Given the description of an element on the screen output the (x, y) to click on. 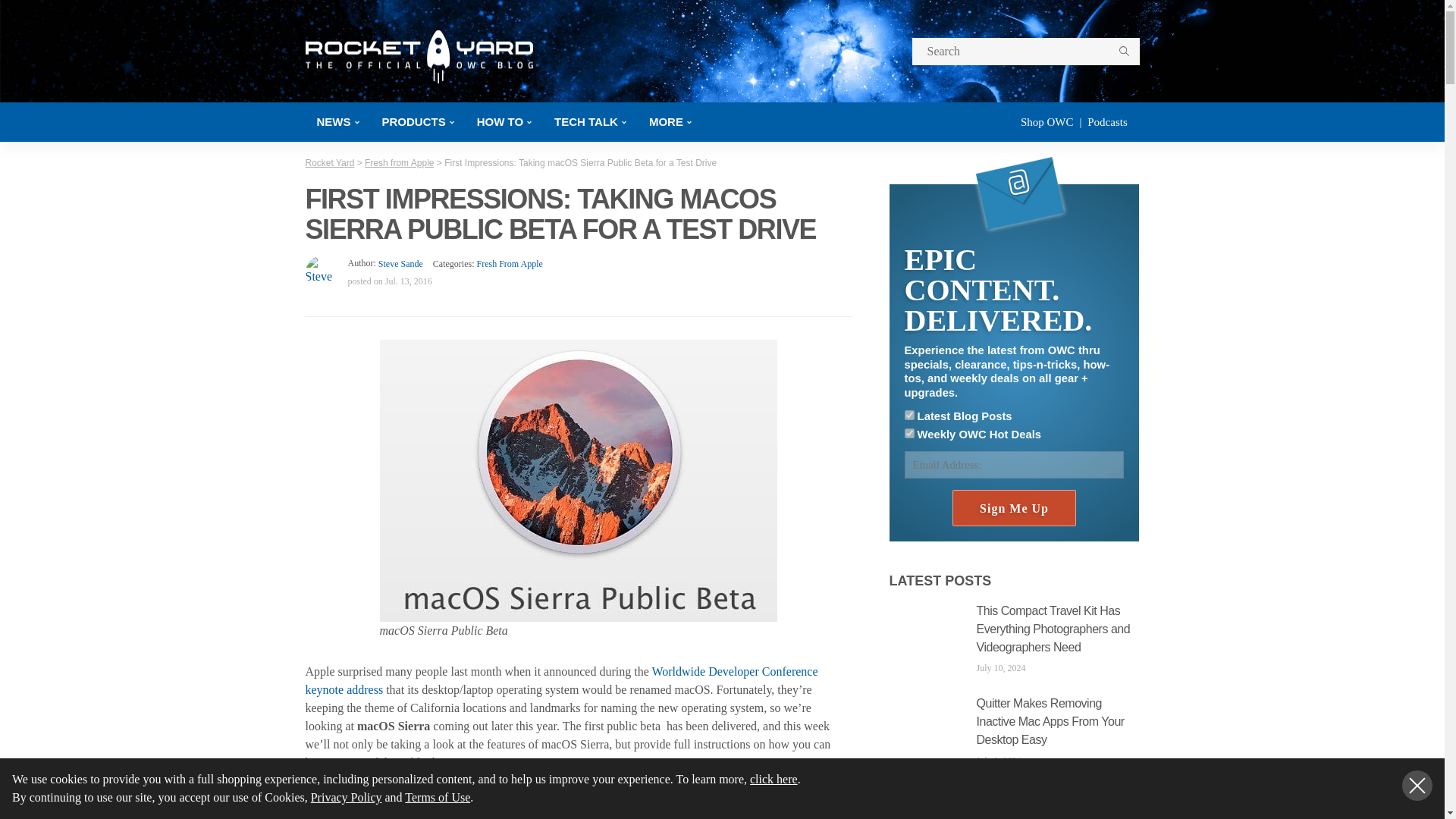
Fresh from Apple (508, 263)
0bcd03ec00000000000000000000001f995c (909, 415)
Go to Rocket Yard. (328, 163)
NEWS (336, 121)
search for: (1024, 51)
Sign Me Up (1013, 507)
Go to the Fresh from Apple category archives. (399, 163)
